Given the description of an element on the screen output the (x, y) to click on. 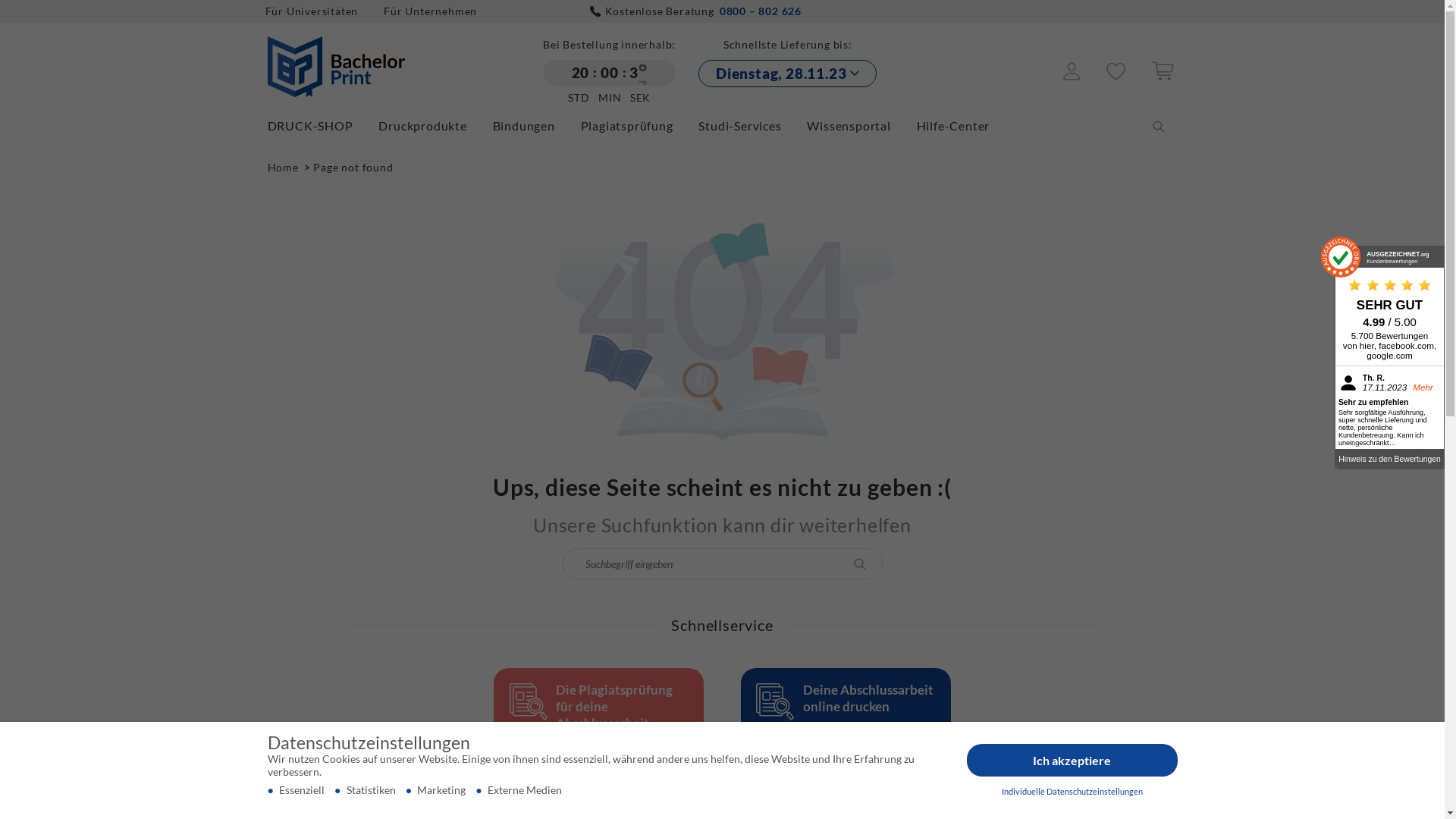
Individuelle Datenschutzeinstellungen Element type: text (1071, 791)
Zur Kasse Element type: hover (1162, 76)
Bindungen Element type: text (534, 125)
Hilfe-Center Element type: text (964, 125)
Ich akzeptiere Element type: text (1071, 760)
AUSGEZEICHNET.org
Kundenbewertungen Element type: text (1389, 256)
Merkzettel Element type: hover (1115, 75)
DRUCK-SHOP Element type: text (320, 125)
Druckprodukte Element type: text (433, 125)
Home Element type: text (283, 166)
Hinweis zu den Bewertungen Element type: text (1389, 457)
Wissensportal Element type: text (859, 125)
Studi-Services Element type: text (750, 125)
Deine Abschlussarbeit online drucken
Zum Konfigurator Element type: text (845, 730)
